Given the description of an element on the screen output the (x, y) to click on. 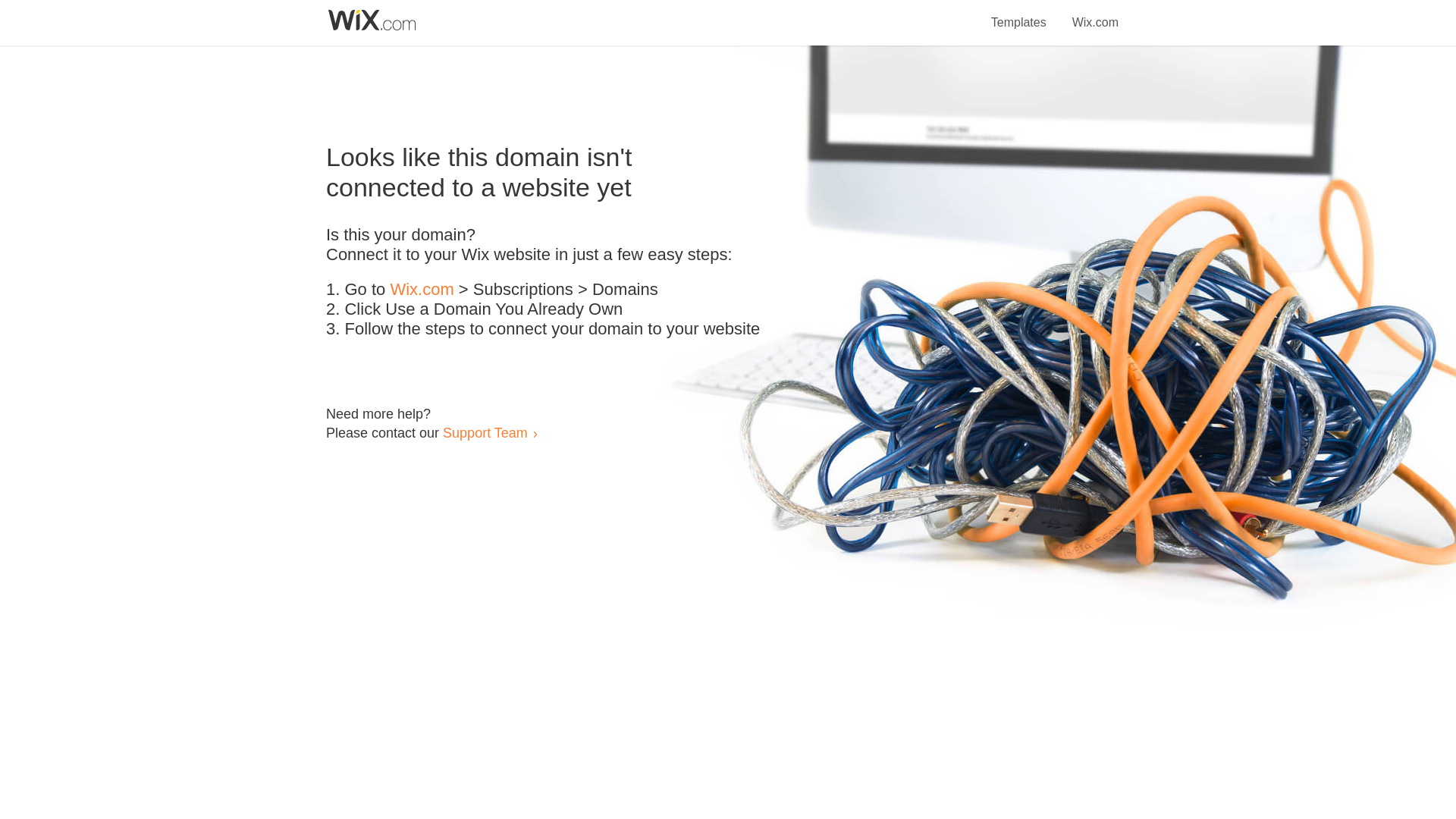
Wix.com (1095, 14)
Templates (1018, 14)
Support Team (484, 432)
Wix.com (421, 289)
